Given the description of an element on the screen output the (x, y) to click on. 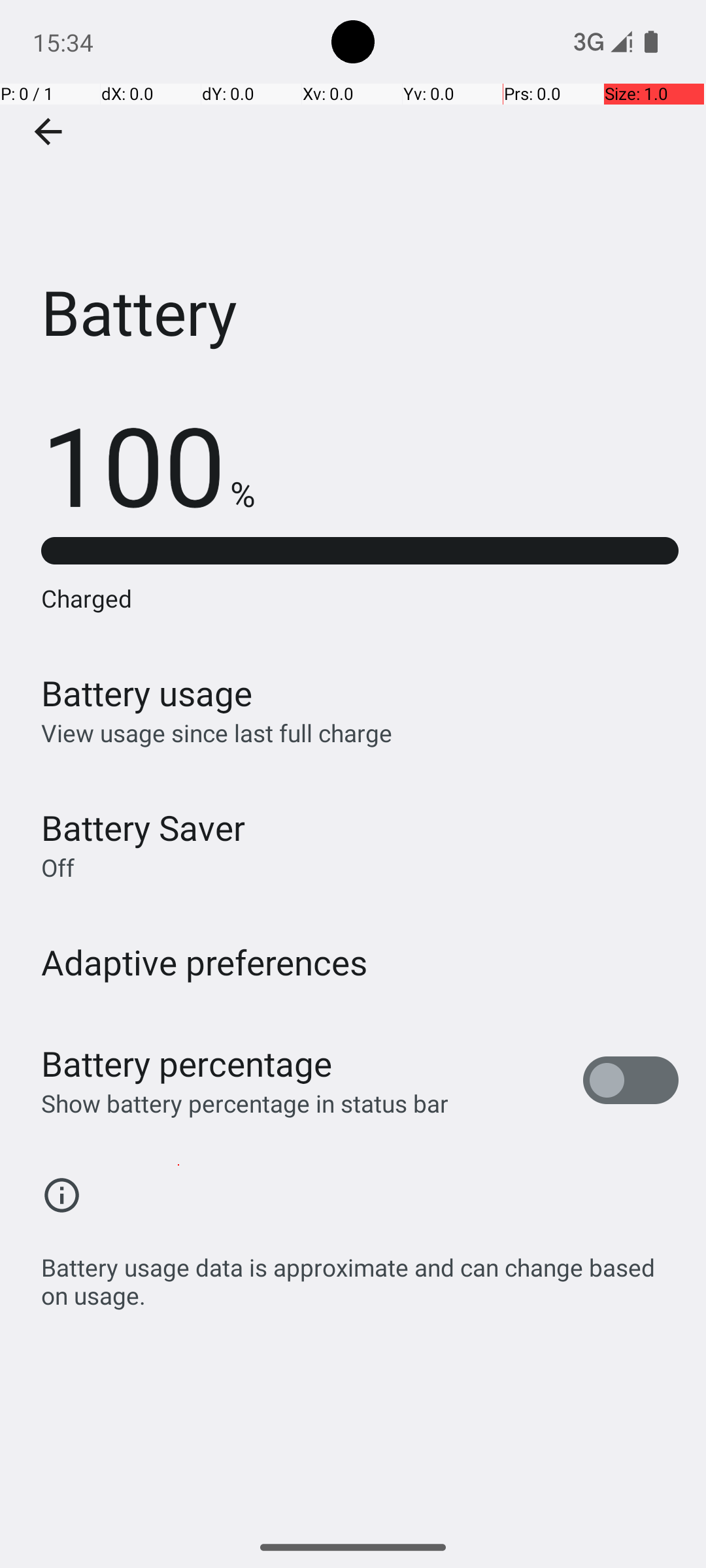
100 % Element type: android.widget.TextView (147, 463)
Charged Element type: android.widget.TextView (359, 597)
Battery usage Element type: android.widget.TextView (146, 692)
View usage since last full charge Element type: android.widget.TextView (216, 732)
Battery Saver Element type: android.widget.TextView (143, 827)
Adaptive preferences Element type: android.widget.TextView (204, 961)
Battery percentage Element type: android.widget.TextView (186, 1063)
Show battery percentage in status bar Element type: android.widget.TextView (244, 1102)
Battery usage data is approximate and can change based on usage. Element type: android.widget.TextView (359, 1274)
